Given the description of an element on the screen output the (x, y) to click on. 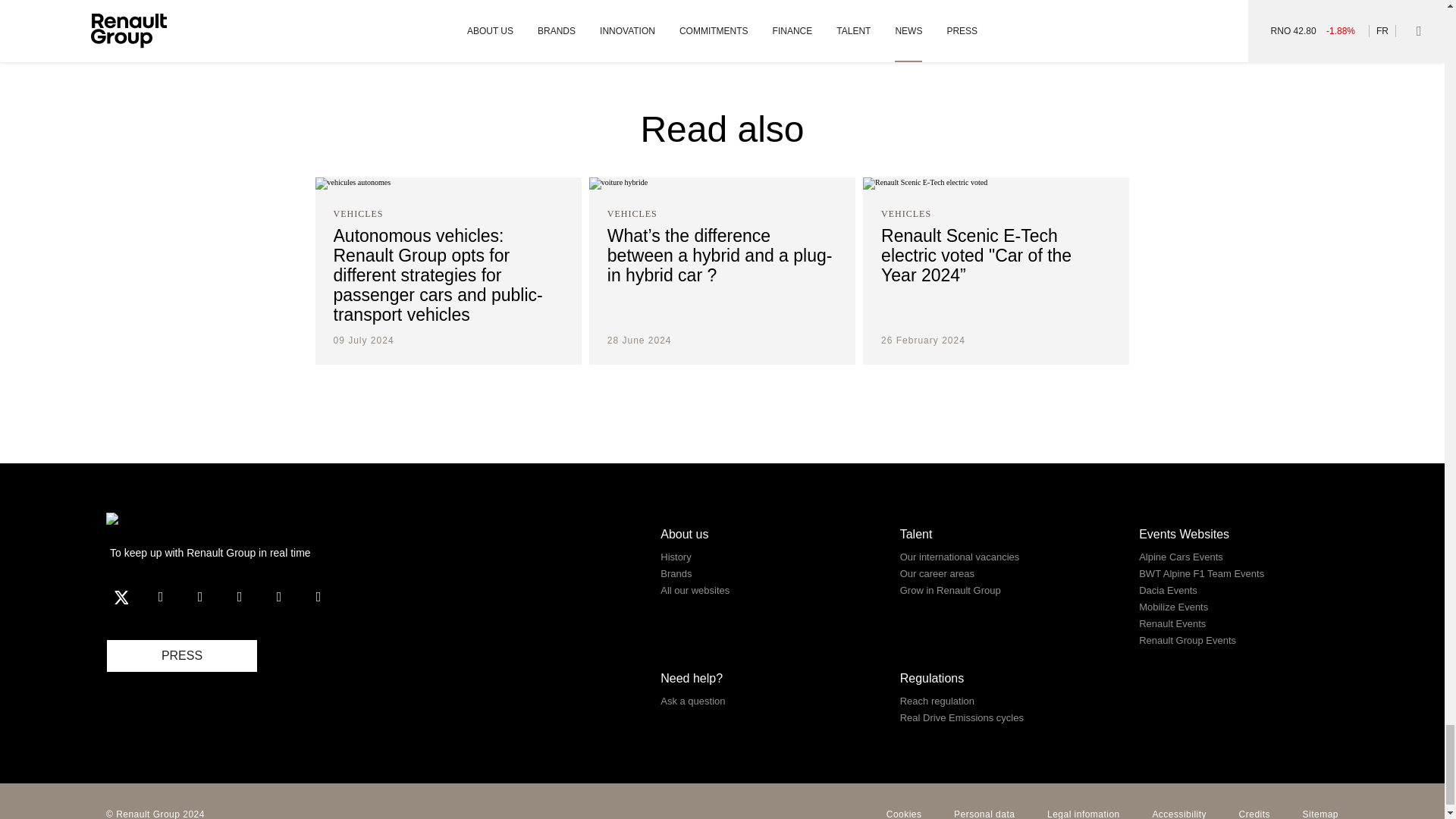
Twitter (121, 596)
Facebook (160, 596)
Live (317, 596)
Instagram (239, 596)
LinkedIn (278, 596)
YouTube (199, 596)
